Given the description of an element on the screen output the (x, y) to click on. 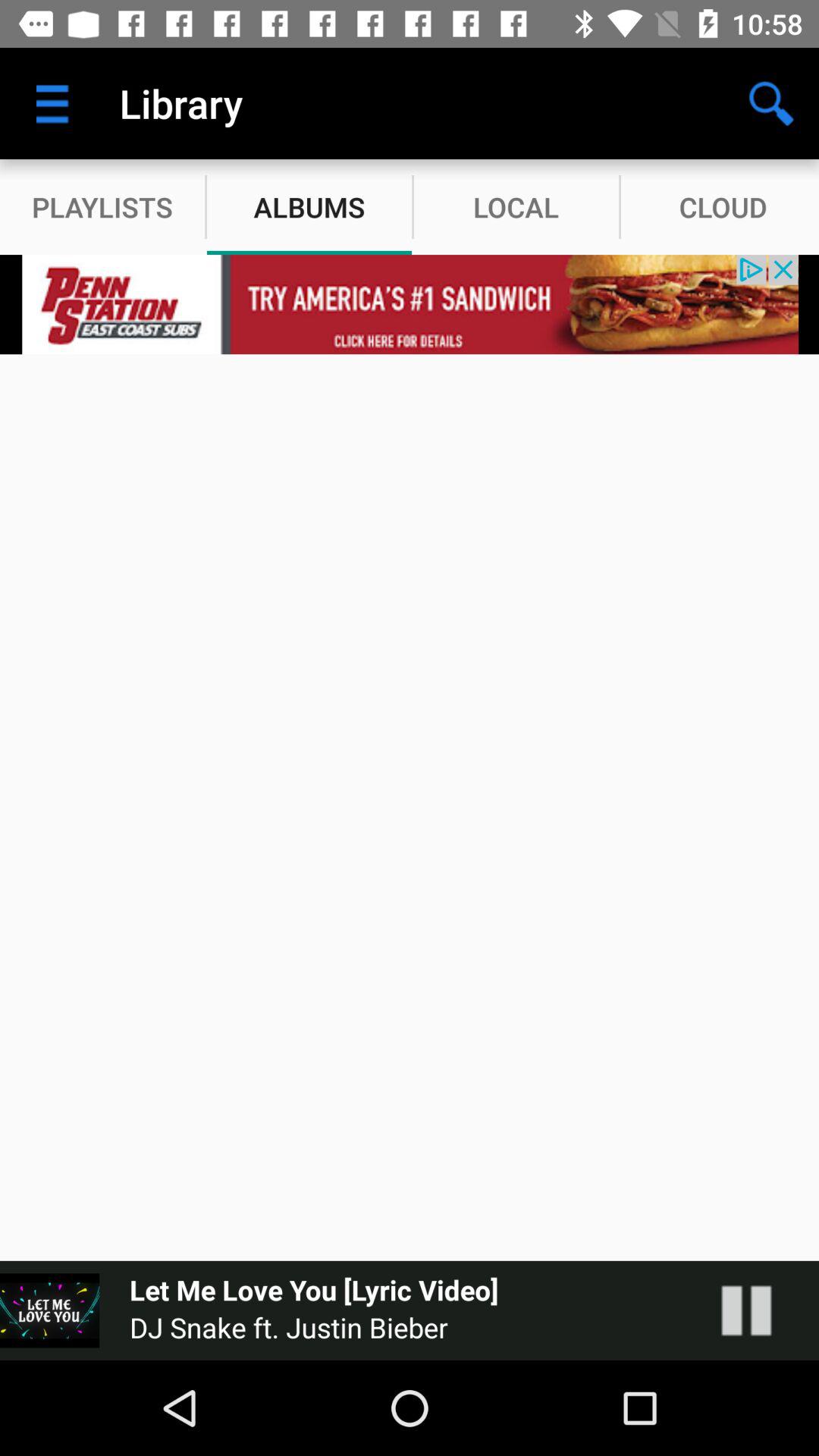
pause (761, 1310)
